Given the description of an element on the screen output the (x, y) to click on. 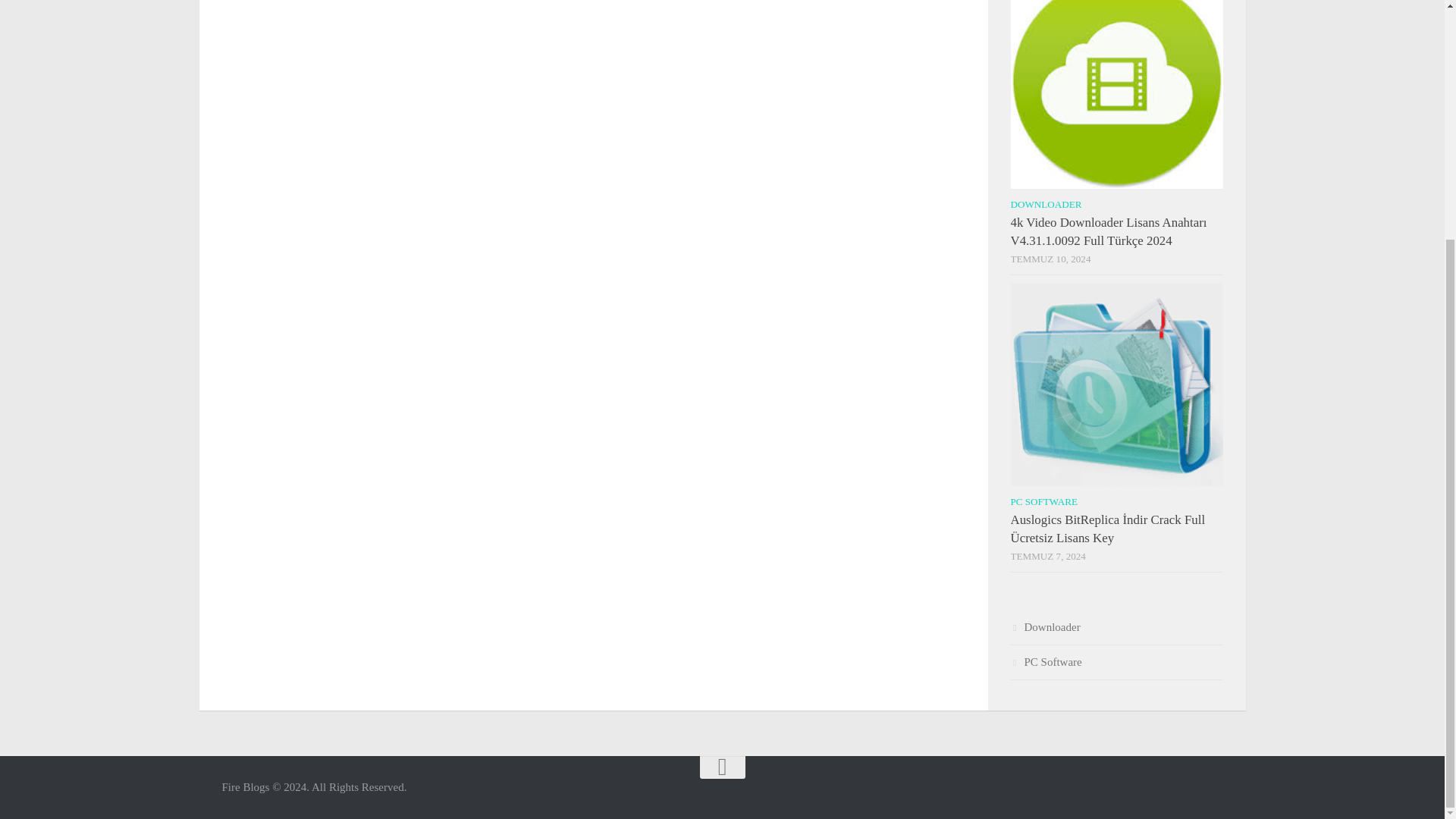
DOWNLOADER (1045, 204)
PC SOFTWARE (1043, 501)
PC Software (1045, 662)
Downloader (1045, 626)
